Given the description of an element on the screen output the (x, y) to click on. 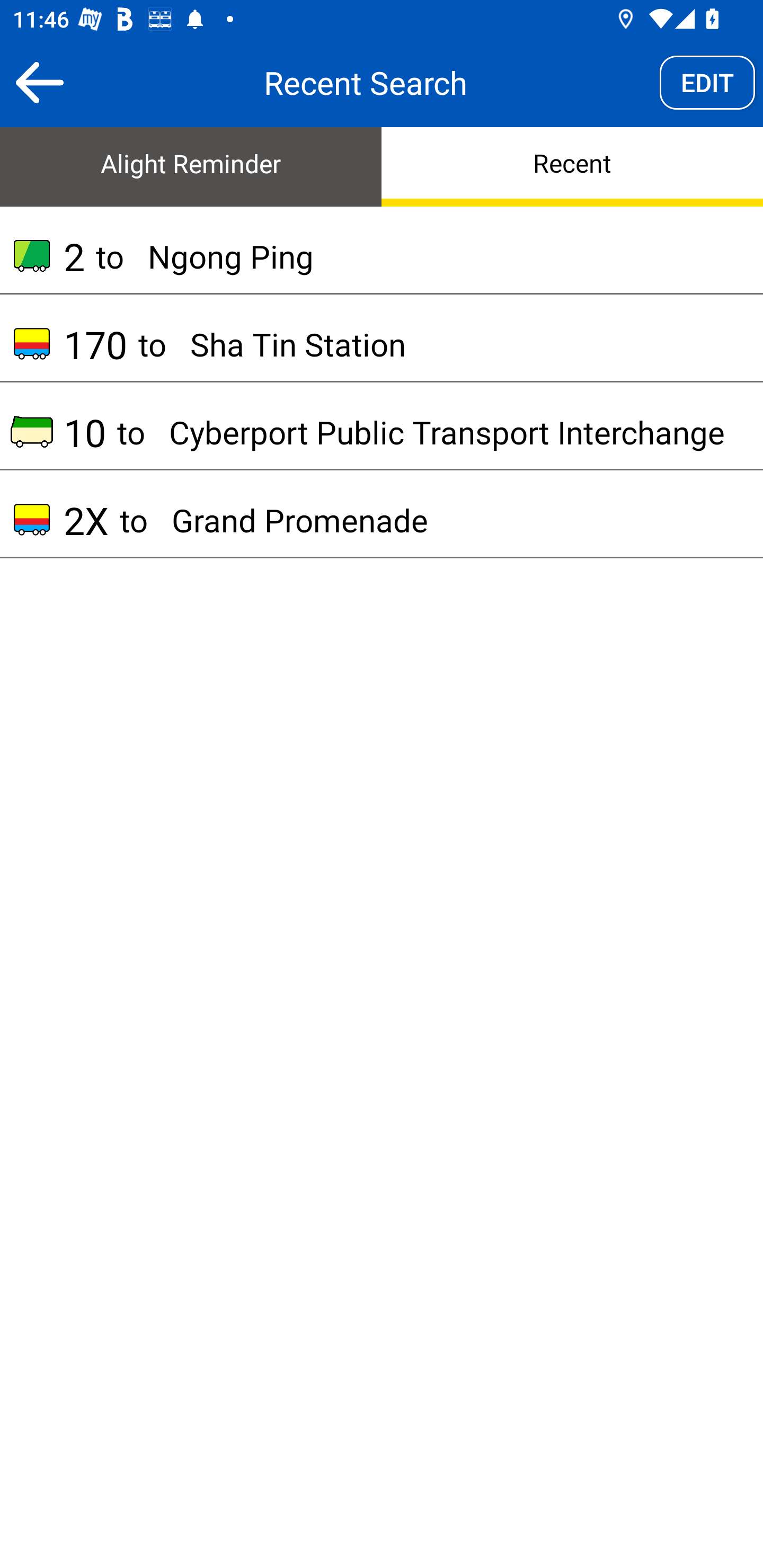
Back (39, 82)
EDIT Edit (707, 81)
Alight Reminder (190, 165)
Recent selected (572, 165)
